Given the description of an element on the screen output the (x, y) to click on. 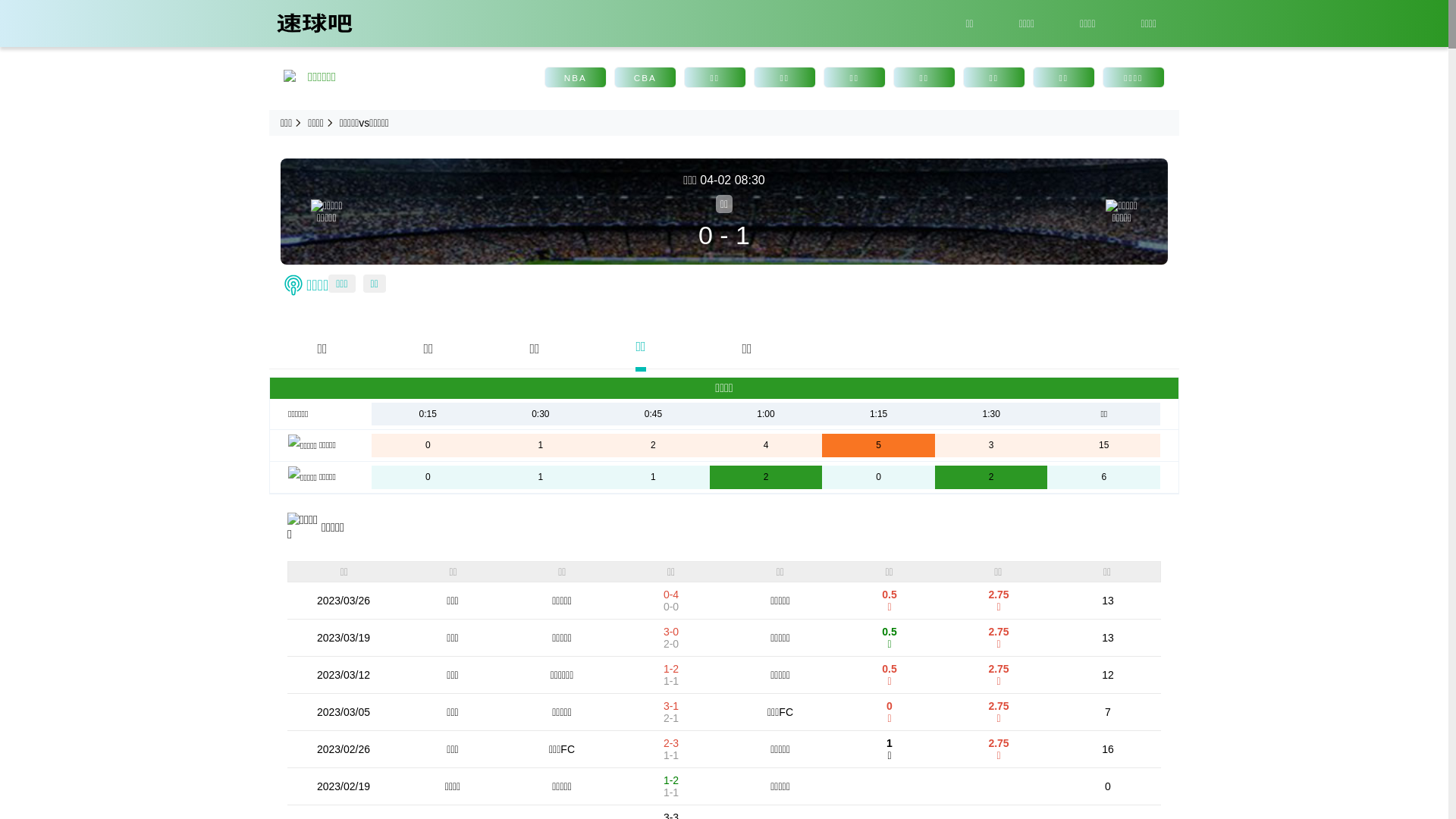
NBA Element type: text (575, 77)
CBA Element type: text (644, 77)
